Given the description of an element on the screen output the (x, y) to click on. 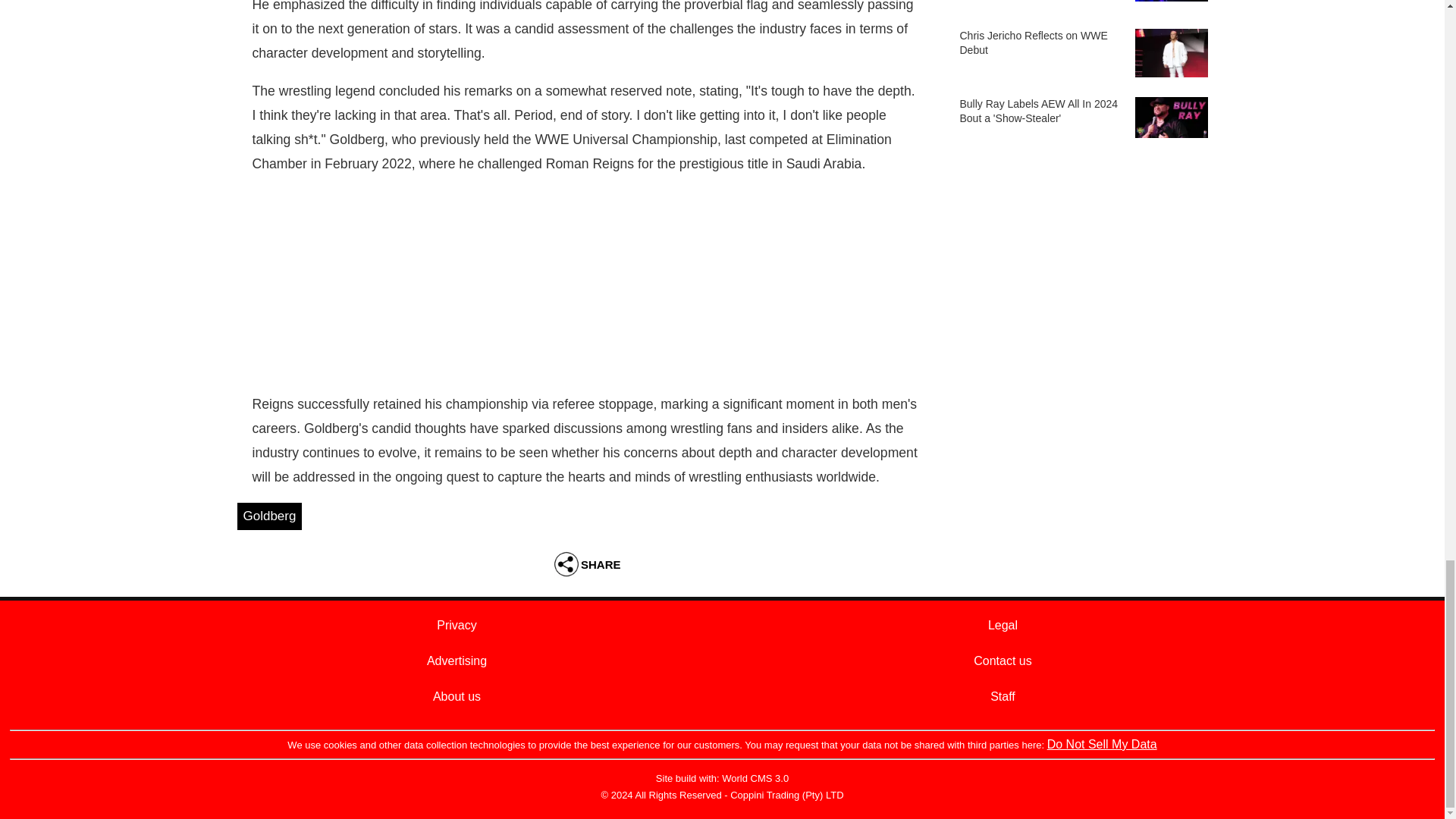
Advertising (456, 659)
Privacy (456, 625)
Legal (1002, 625)
Contact us (1002, 659)
Goldberg (268, 515)
